Given the description of an element on the screen output the (x, y) to click on. 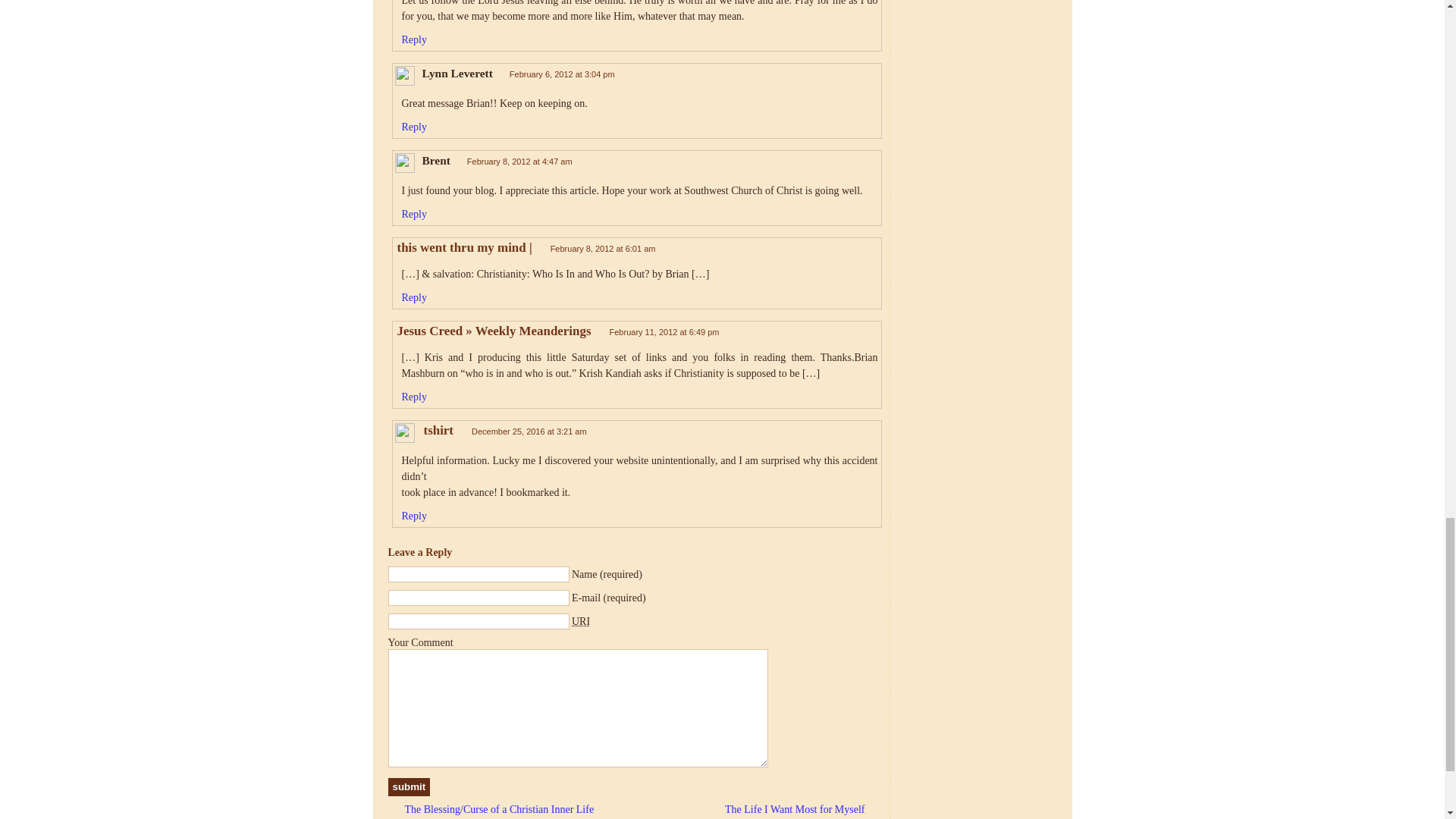
February 6, 2012 at 3:04 pm (561, 73)
Reply (413, 214)
submit (409, 787)
December 25, 2016 at 3:21 am (529, 431)
February 11, 2012 at 6:49 pm (664, 331)
February 8, 2012 at 6:01 am (603, 248)
tshirt (438, 429)
The Life I Want Most for Myself (802, 809)
Reply (413, 39)
submit (409, 787)
